Given the description of an element on the screen output the (x, y) to click on. 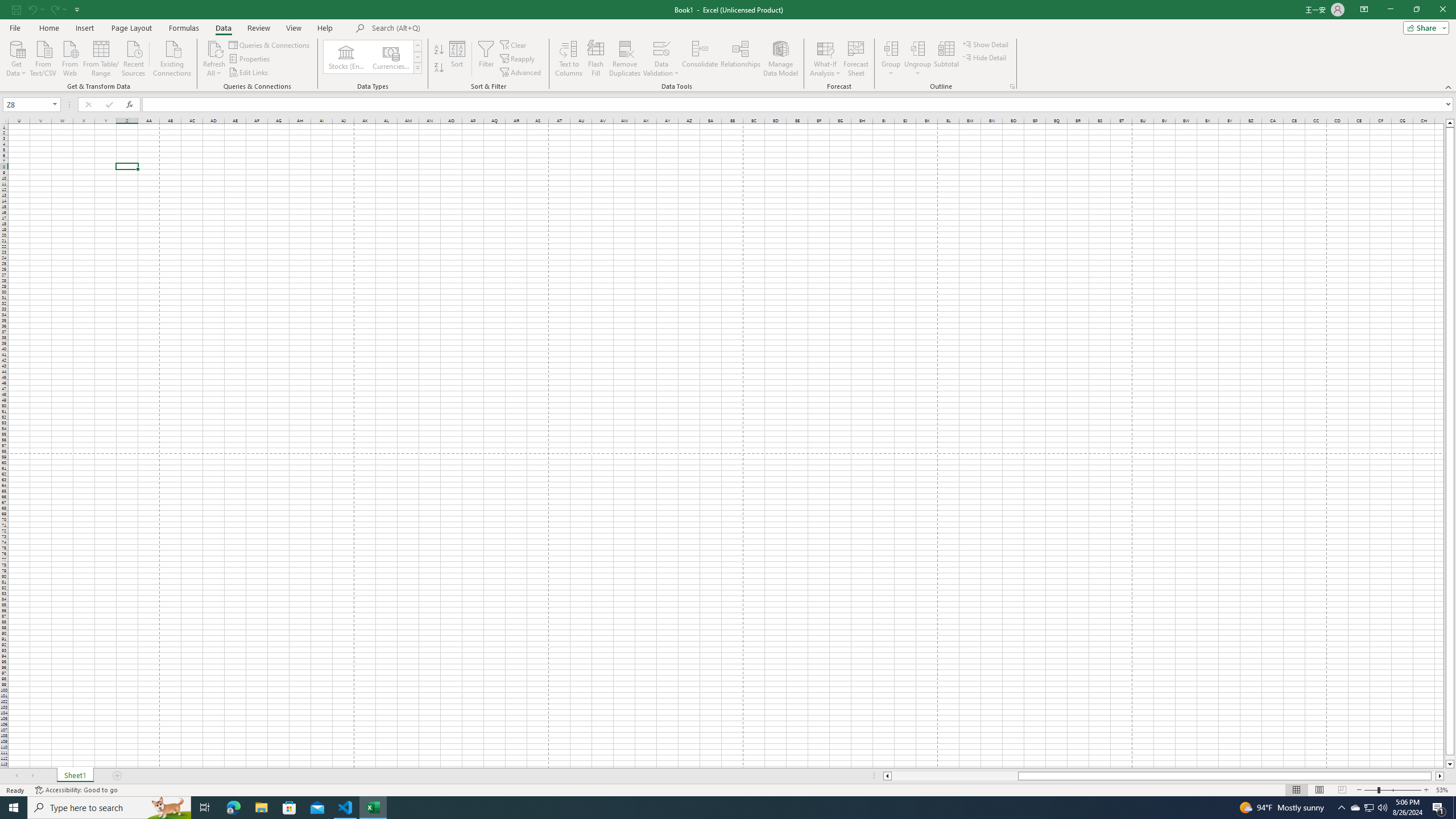
Ungroup... (917, 48)
From Web (69, 57)
Formulas (184, 28)
Save (16, 9)
Refresh All (214, 48)
Page down (1449, 757)
